Given the description of an element on the screen output the (x, y) to click on. 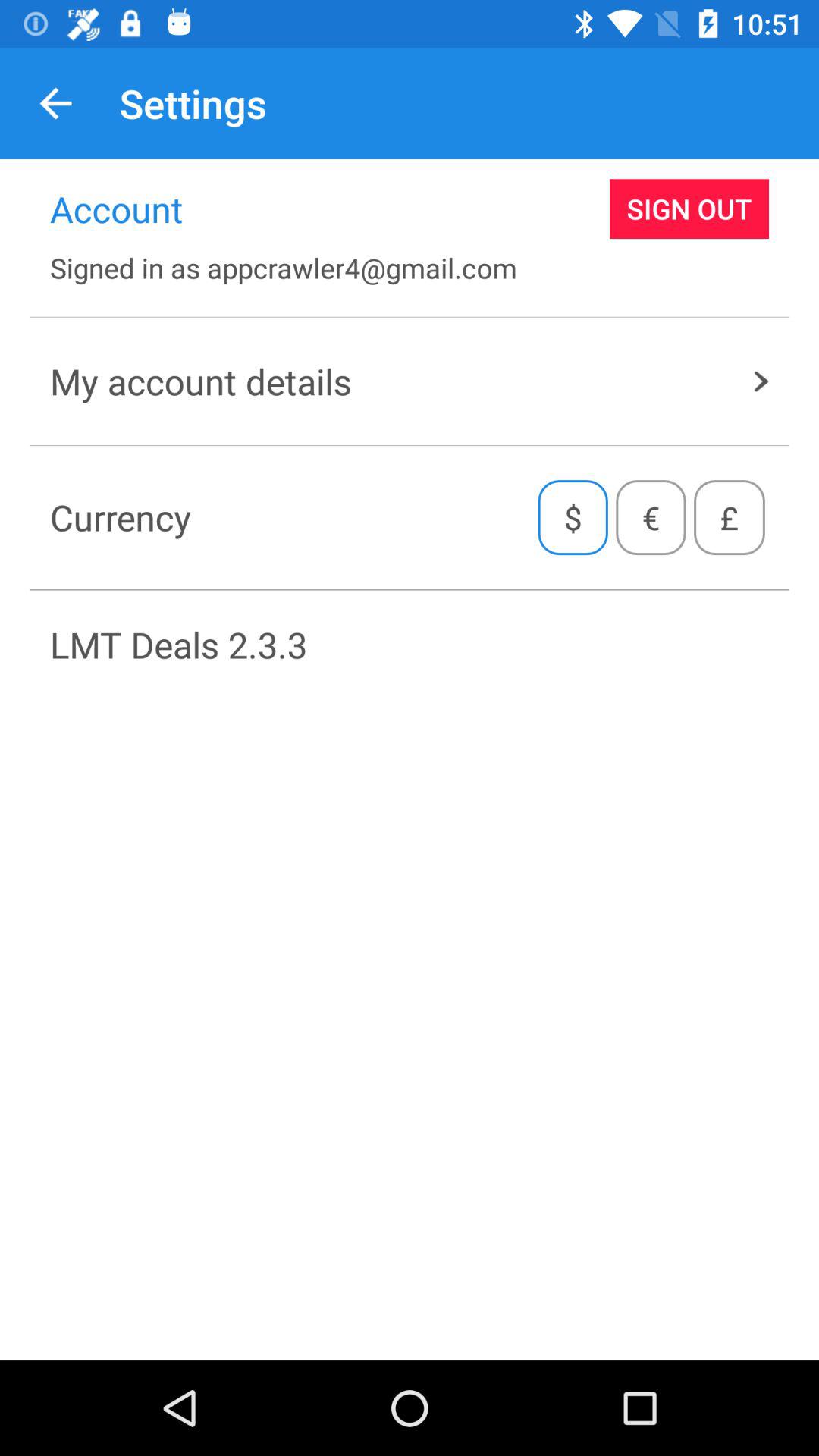
select item next to currency icon (572, 517)
